Given the description of an element on the screen output the (x, y) to click on. 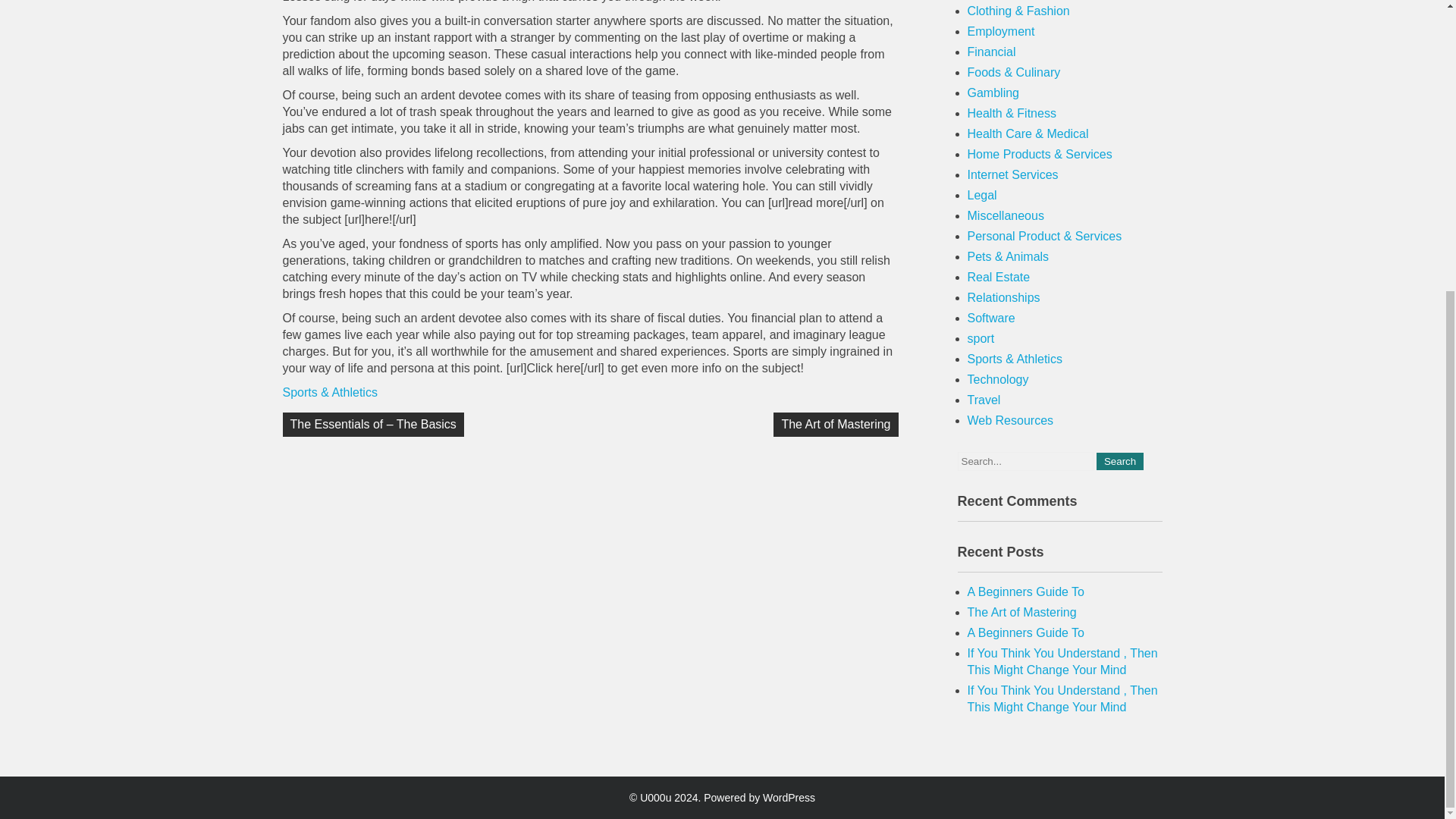
Miscellaneous (1005, 215)
Software (991, 318)
sport (981, 338)
Internet Services (1013, 174)
Search (1119, 461)
Financial (992, 51)
Employment (1001, 31)
Real Estate (999, 277)
Technology (998, 379)
The Art of Mastering (835, 424)
